Given the description of an element on the screen output the (x, y) to click on. 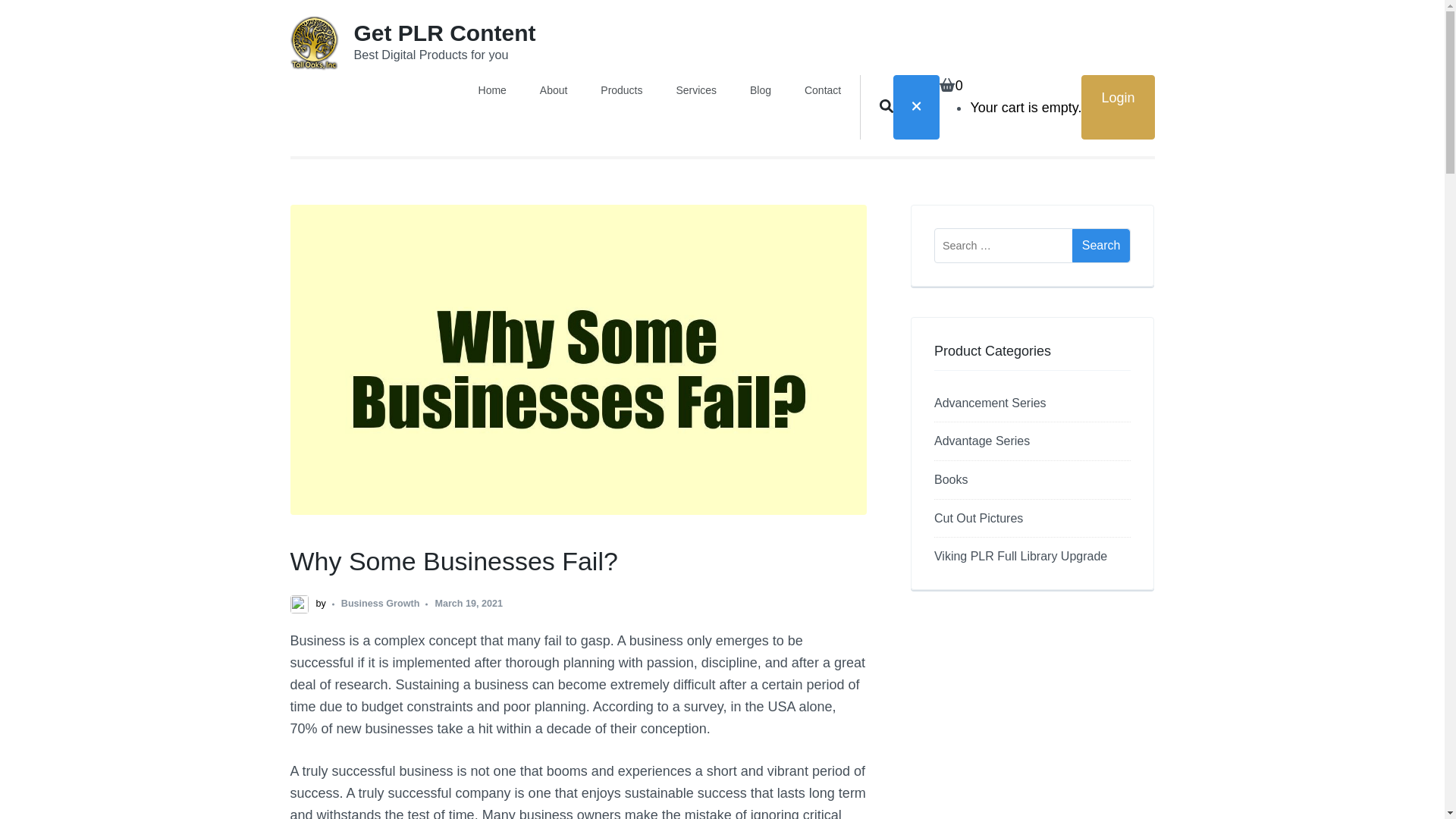
Home (492, 90)
Business Growth (380, 603)
Blog (760, 90)
Services (695, 90)
Products (620, 90)
About (553, 90)
Search (1101, 245)
Contact (823, 90)
Login (1117, 107)
Get PLR Content (444, 32)
Search (1101, 245)
March 19, 2021 (467, 603)
